Given the description of an element on the screen output the (x, y) to click on. 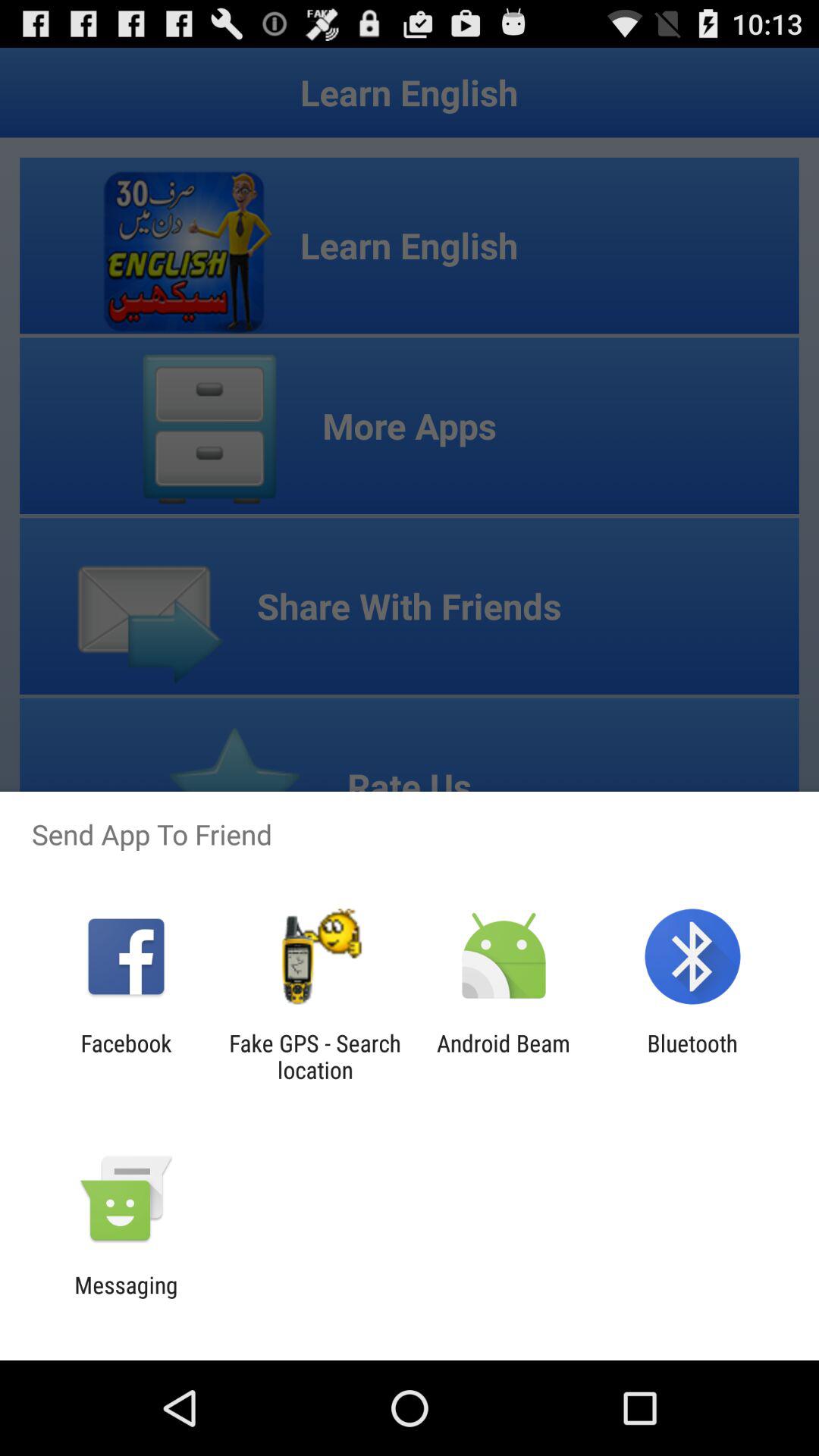
select the item next to android beam app (692, 1056)
